Given the description of an element on the screen output the (x, y) to click on. 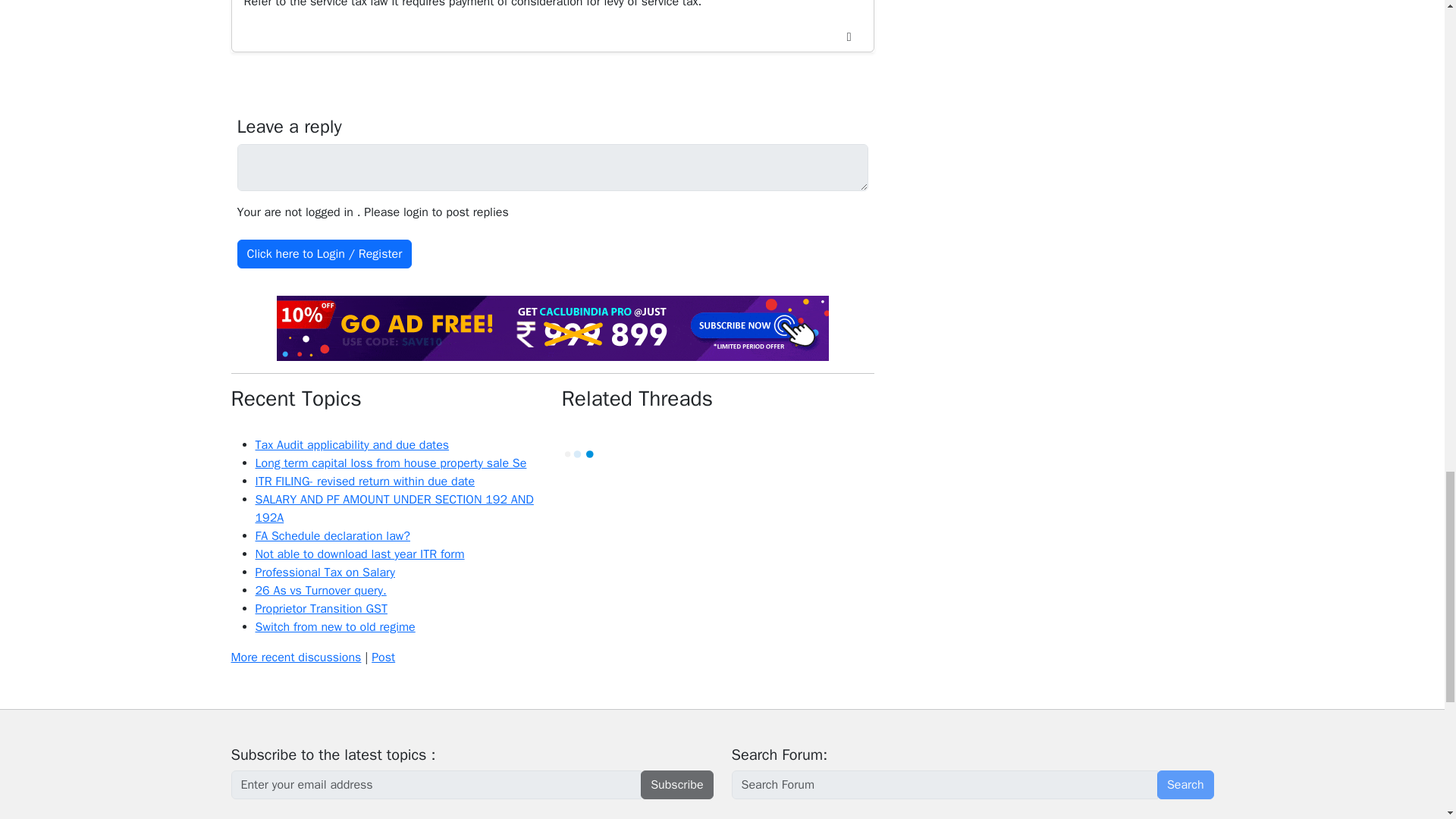
SALARY AND PF AMOUNT UNDER SECTION 192 AND 192A (393, 508)
ITR FILING- revised return within due date (364, 481)
Join CCI Pro (552, 328)
Tax Audit applicability and due dates (351, 444)
